Given the description of an element on the screen output the (x, y) to click on. 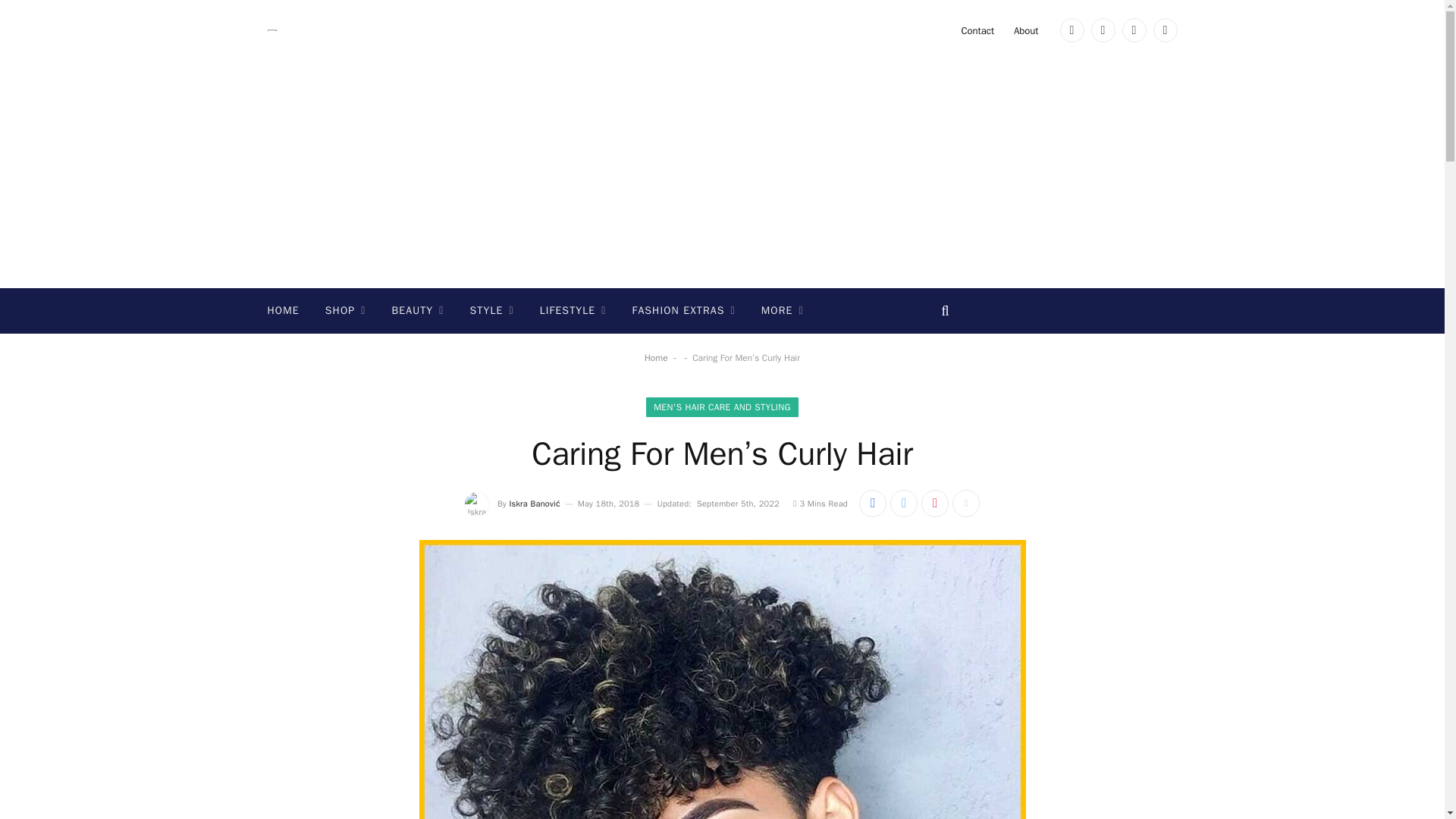
Show More Social Sharing (965, 502)
Share on Facebook (872, 502)
Share on Pinterest (935, 502)
